Given the description of an element on the screen output the (x, y) to click on. 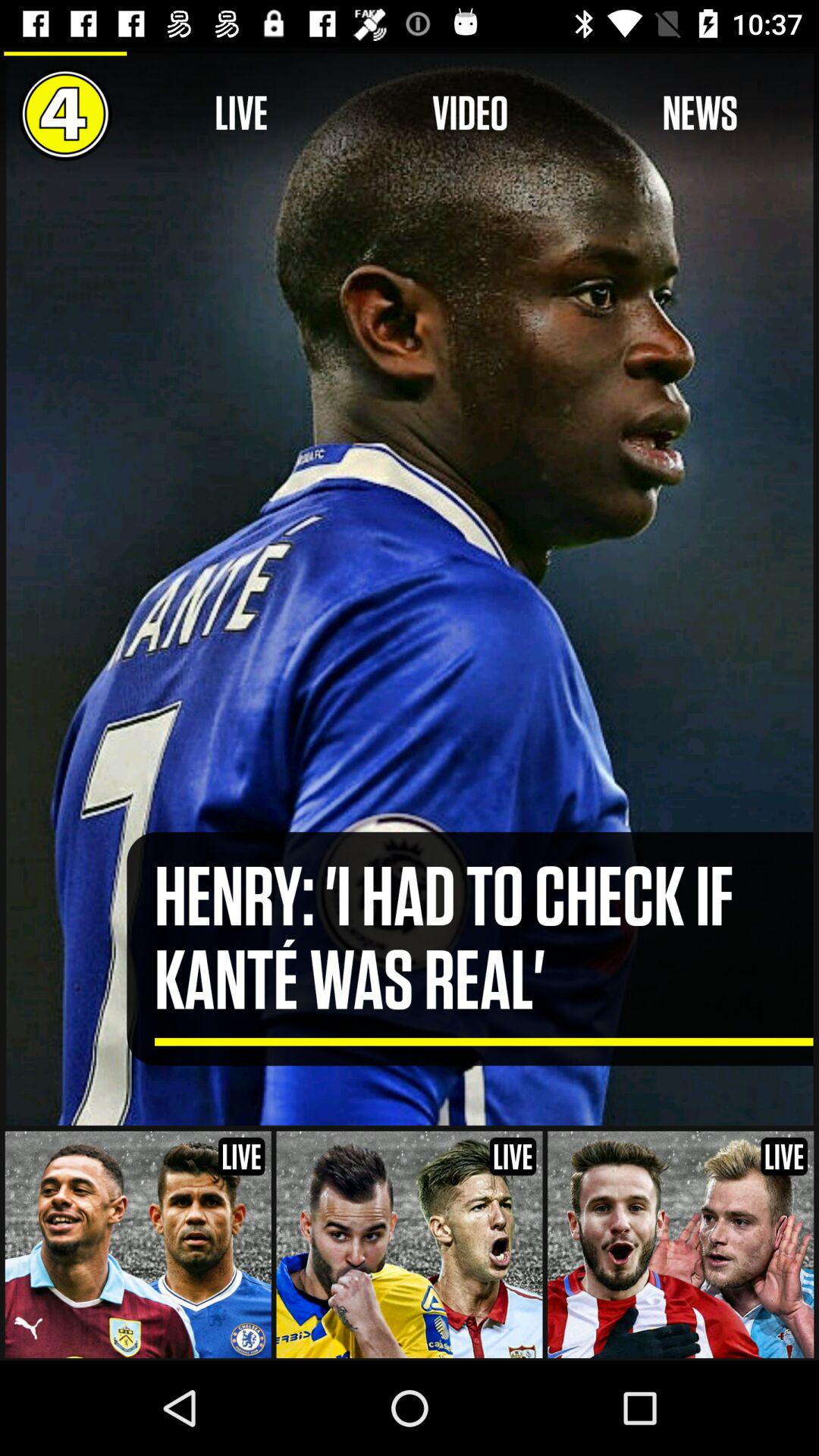
tap item next to news (470, 113)
